Given the description of an element on the screen output the (x, y) to click on. 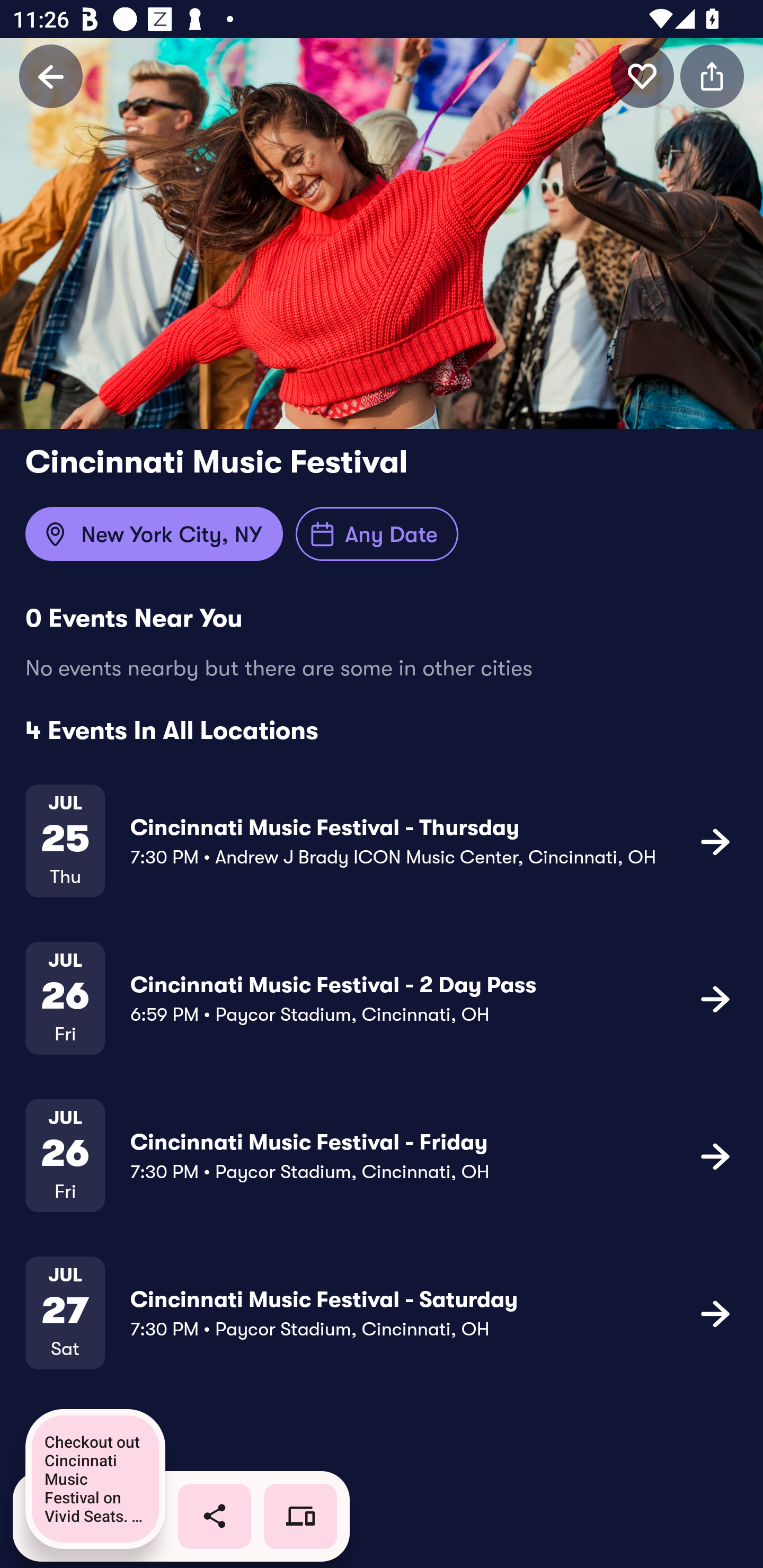
Back (50, 75)
icon button (641, 75)
icon button (711, 75)
New York City, NY (153, 533)
Any Date (377, 533)
icon button (714, 840)
icon button (714, 998)
icon button (714, 1155)
icon button (714, 1312)
